Given the description of an element on the screen output the (x, y) to click on. 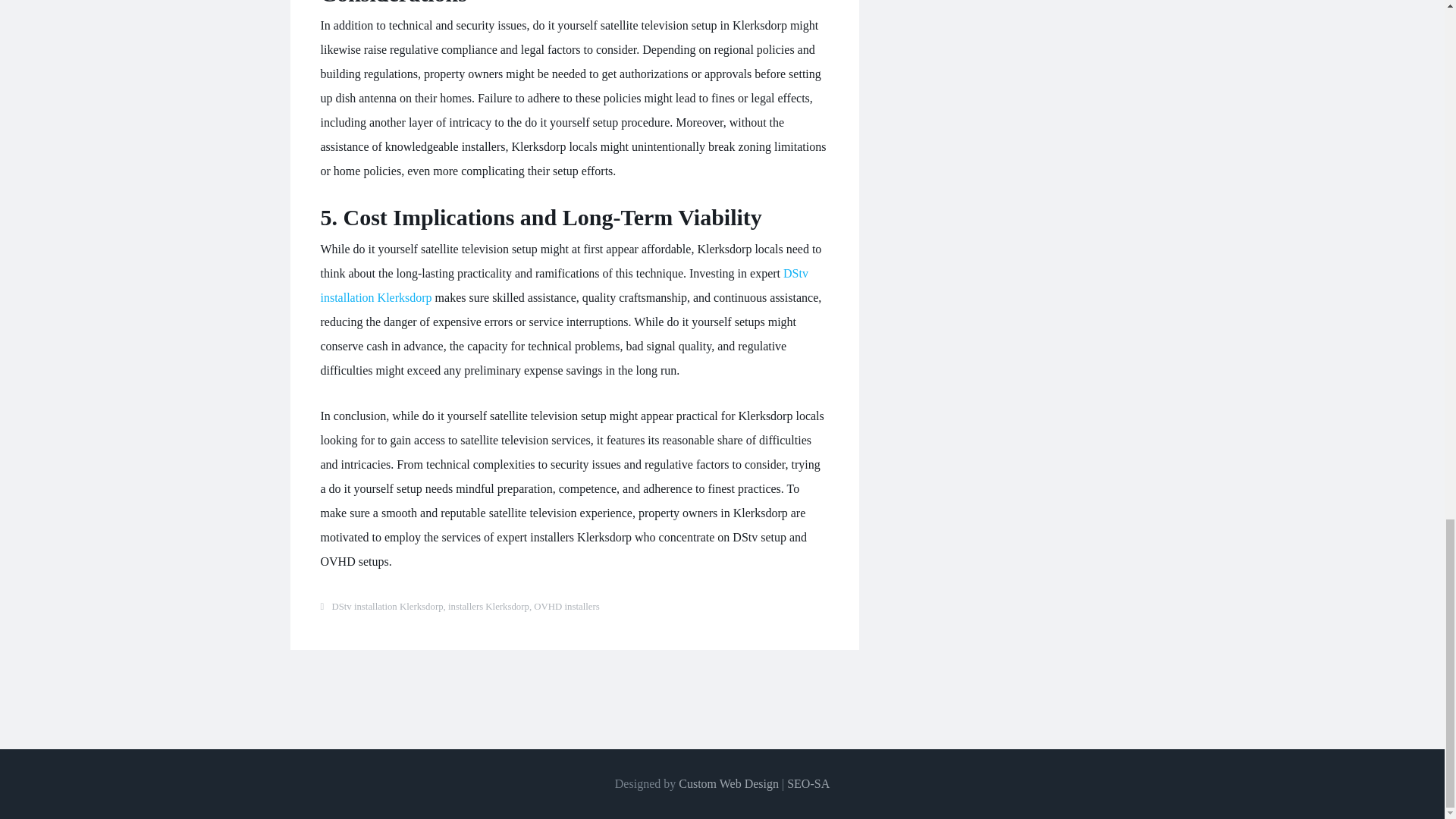
installers Klerksdorp (488, 606)
DStv installation Klerksdorp (564, 284)
OVHD installers (566, 606)
DStv installation Klerksdorp (386, 606)
